Given the description of an element on the screen output the (x, y) to click on. 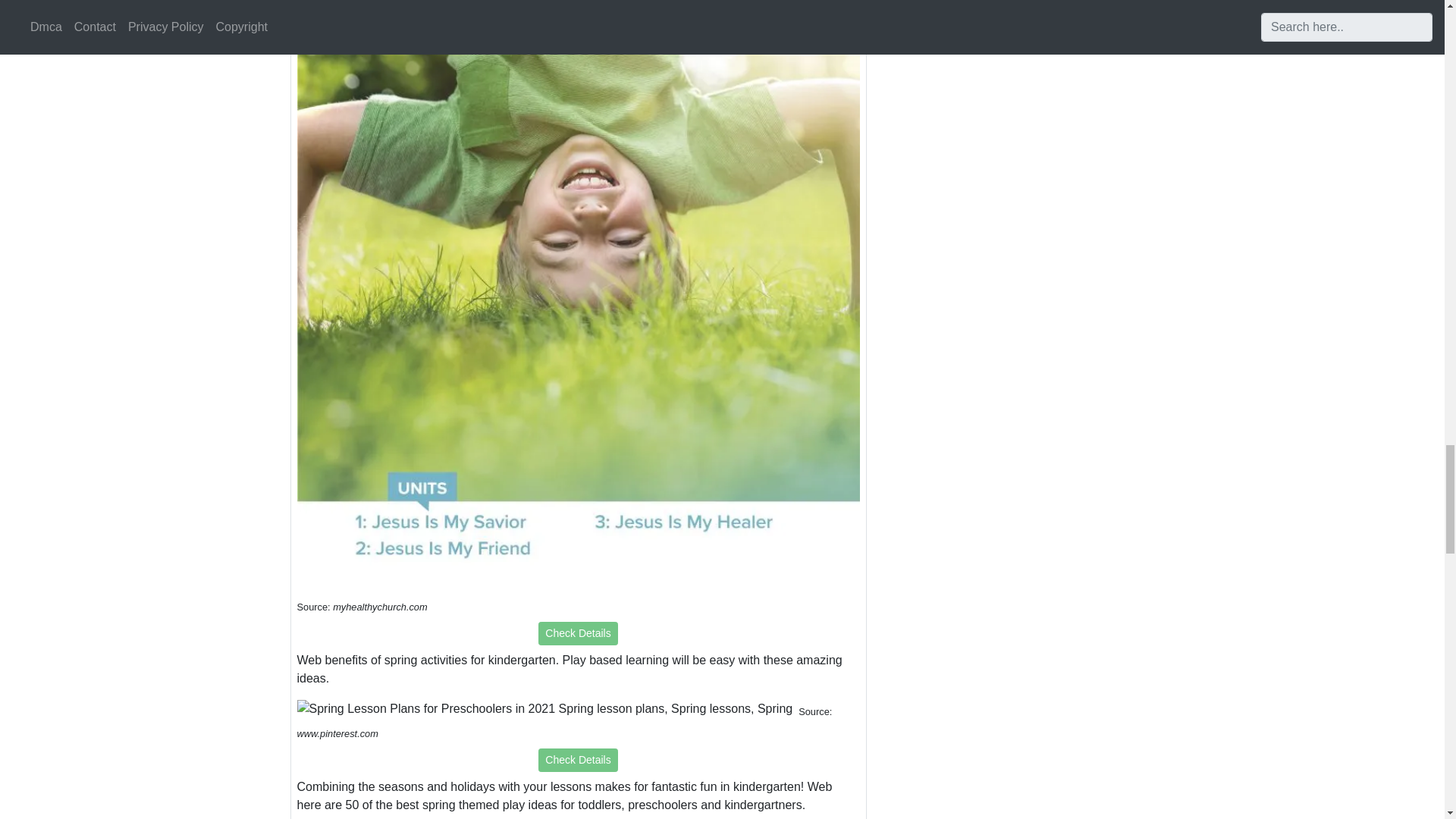
Check Details (577, 760)
Check Details (577, 633)
